Given the description of an element on the screen output the (x, y) to click on. 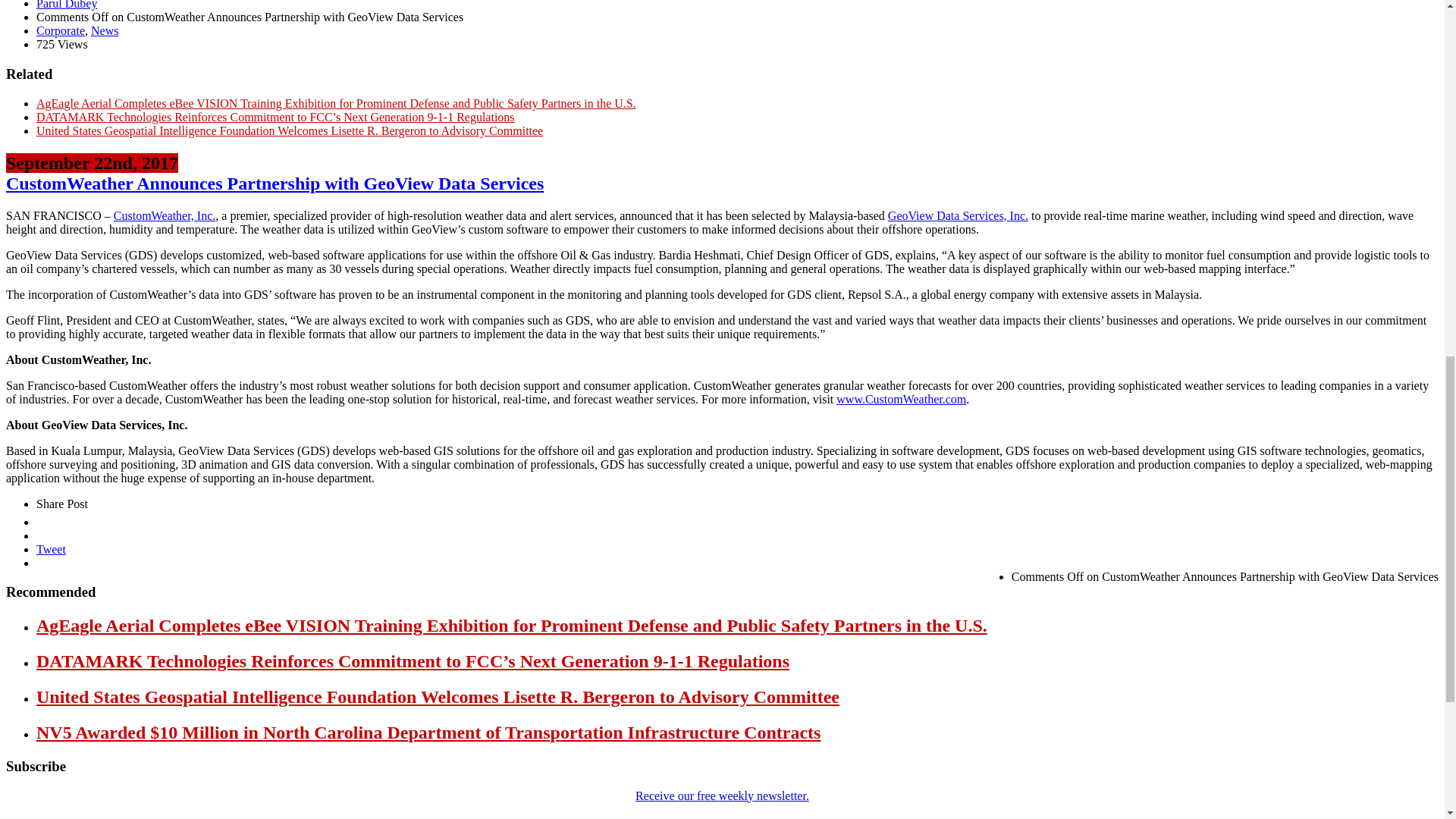
Posts by Parul Dubey (66, 4)
